Given the description of an element on the screen output the (x, y) to click on. 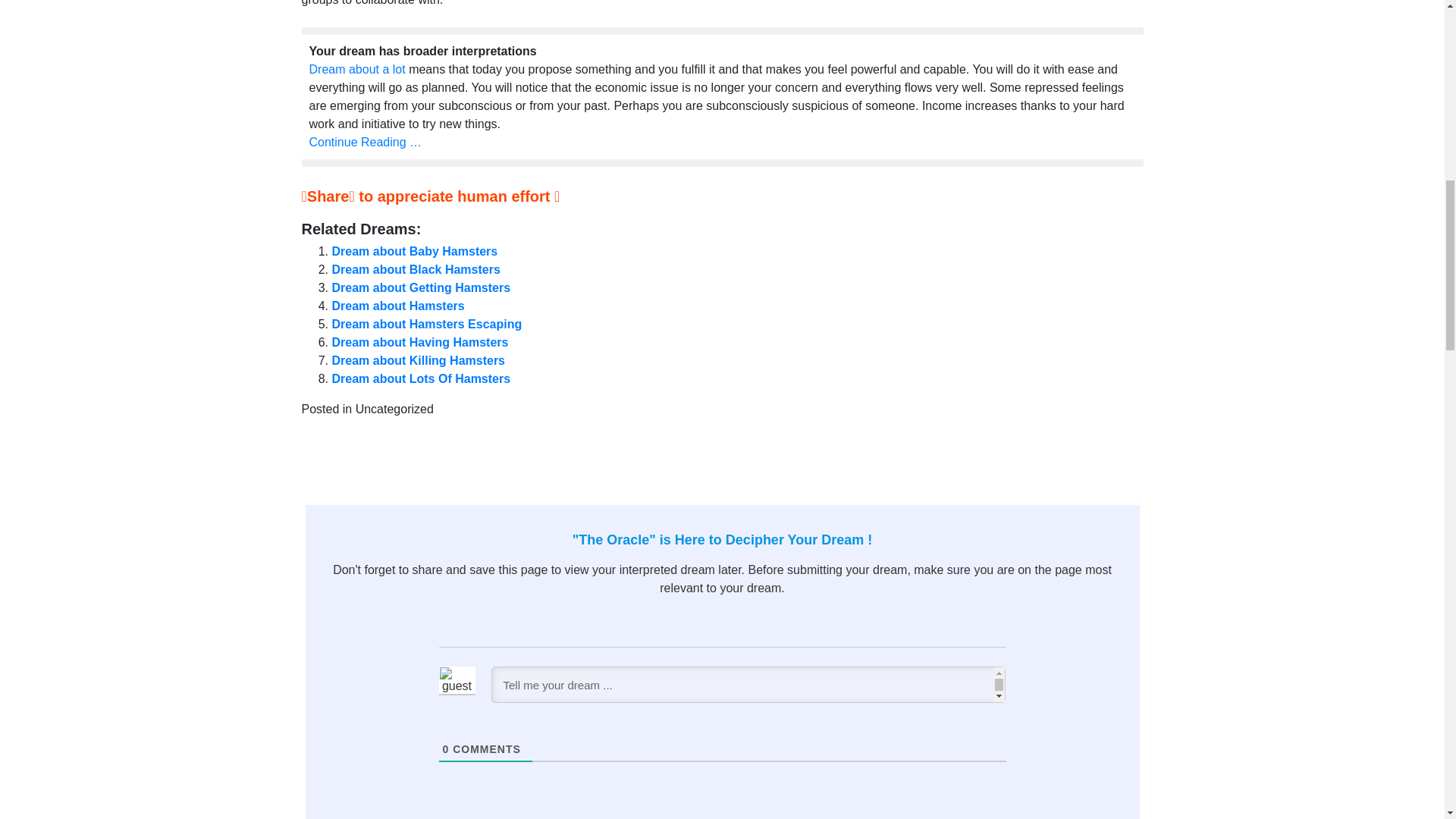
Dream about Killing Hamsters (418, 359)
Dream about a lot (357, 69)
Dream about Killing Hamsters (418, 359)
Dream about Hamsters (397, 305)
Dream about Hamsters Escaping (426, 323)
Dream about Having Hamsters (419, 341)
Dream about Getting Hamsters (421, 287)
Dream about Baby Hamsters (414, 250)
Dream about Getting Hamsters (421, 287)
Dream about Black Hamsters (415, 269)
